Given the description of an element on the screen output the (x, y) to click on. 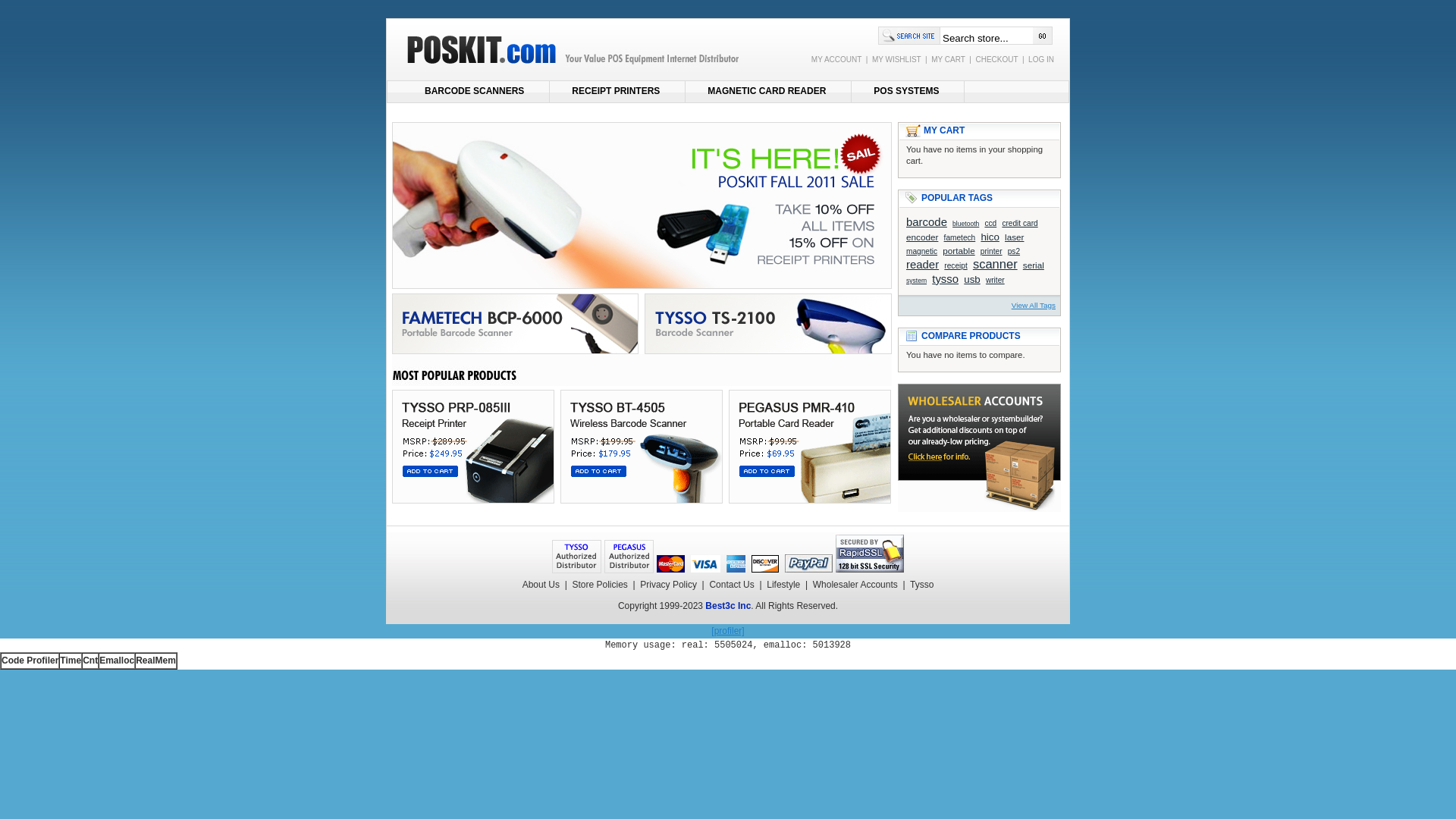
About Us Element type: text (540, 584)
CHECKOUT Element type: text (996, 59)
portable Element type: text (958, 250)
LOG IN Element type: text (1041, 59)
BARCODE SCANNERS Element type: text (475, 91)
barcode Element type: text (926, 221)
bluetooth Element type: text (965, 223)
Wholesaler Accounts Element type: text (854, 584)
RECEIPT PRINTERS Element type: text (616, 91)
printer Element type: text (991, 251)
Privacy Policy Element type: text (668, 584)
Contact Us Element type: text (731, 584)
MY CART Element type: text (947, 59)
hico Element type: text (989, 236)
receipt Element type: text (955, 265)
ps2 Element type: text (1013, 251)
encoder Element type: text (922, 236)
writer Element type: text (994, 280)
Lifestyle Element type: text (783, 584)
credit card Element type: text (1019, 223)
Best3c Inc Element type: text (727, 605)
View All Tags Element type: text (1033, 304)
tysso Element type: text (944, 278)
MY ACCOUNT Element type: text (836, 59)
MY WISHLIST Element type: text (896, 59)
Store Policies Element type: text (599, 584)
MAGNETIC CARD READER Element type: text (767, 91)
reader Element type: text (922, 263)
laser Element type: text (1013, 236)
ccd Element type: text (990, 223)
magnetic Element type: text (921, 251)
usb Element type: text (971, 279)
system Element type: text (916, 280)
Tysso Element type: text (921, 584)
[profiler] Element type: text (727, 630)
scanner Element type: text (994, 264)
POS SYSTEMS Element type: text (907, 91)
fametech Element type: text (959, 237)
serial Element type: text (1033, 264)
